Given the description of an element on the screen output the (x, y) to click on. 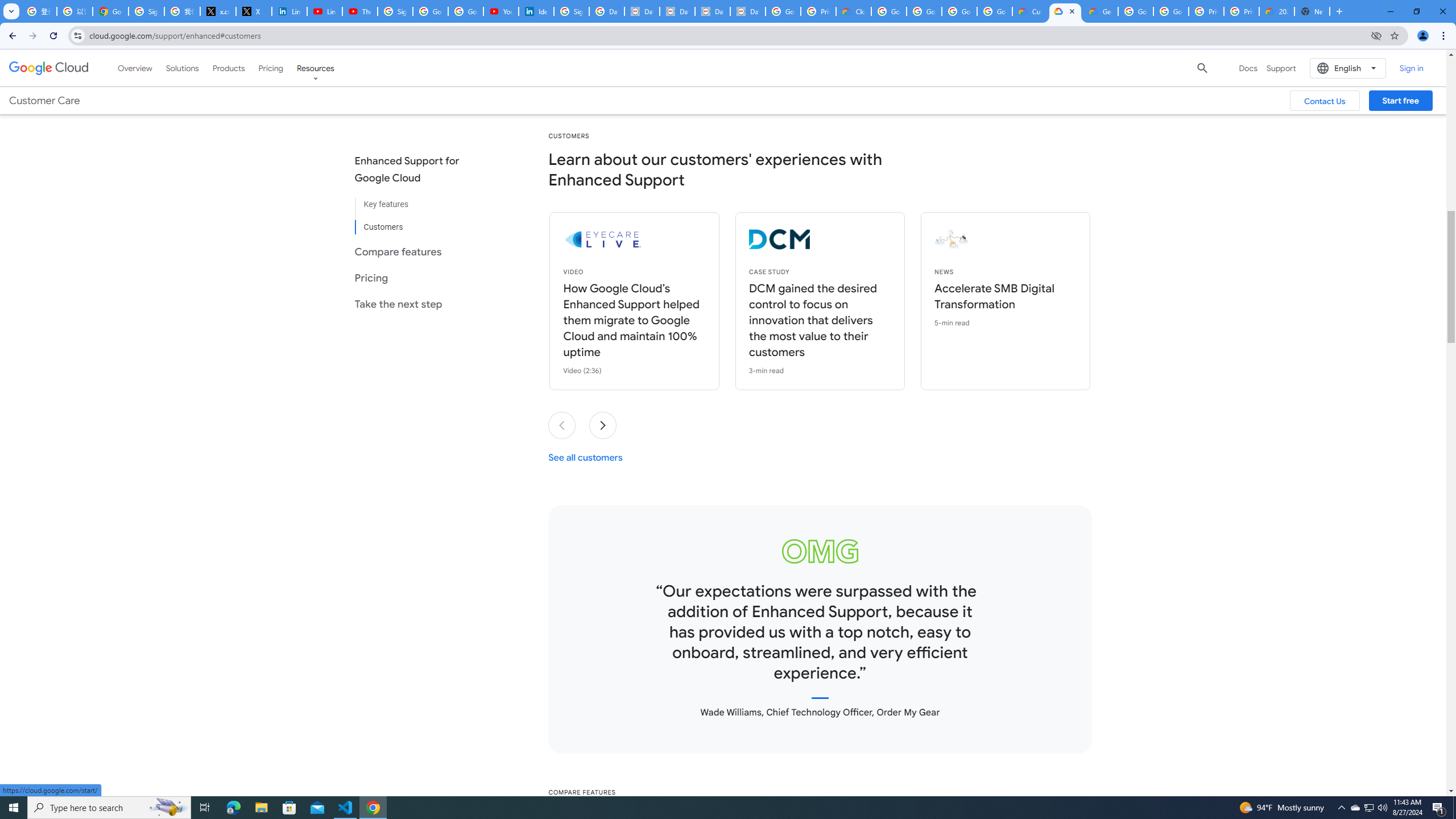
Pricing (270, 67)
Products (228, 67)
Sign in - Google Accounts (571, 11)
Customer Care | Google Cloud (1029, 11)
Previous slide (562, 424)
Data Privacy Framework (712, 11)
Sign in - Google Accounts (394, 11)
Google Cloud Platform (1135, 11)
